Given the description of an element on the screen output the (x, y) to click on. 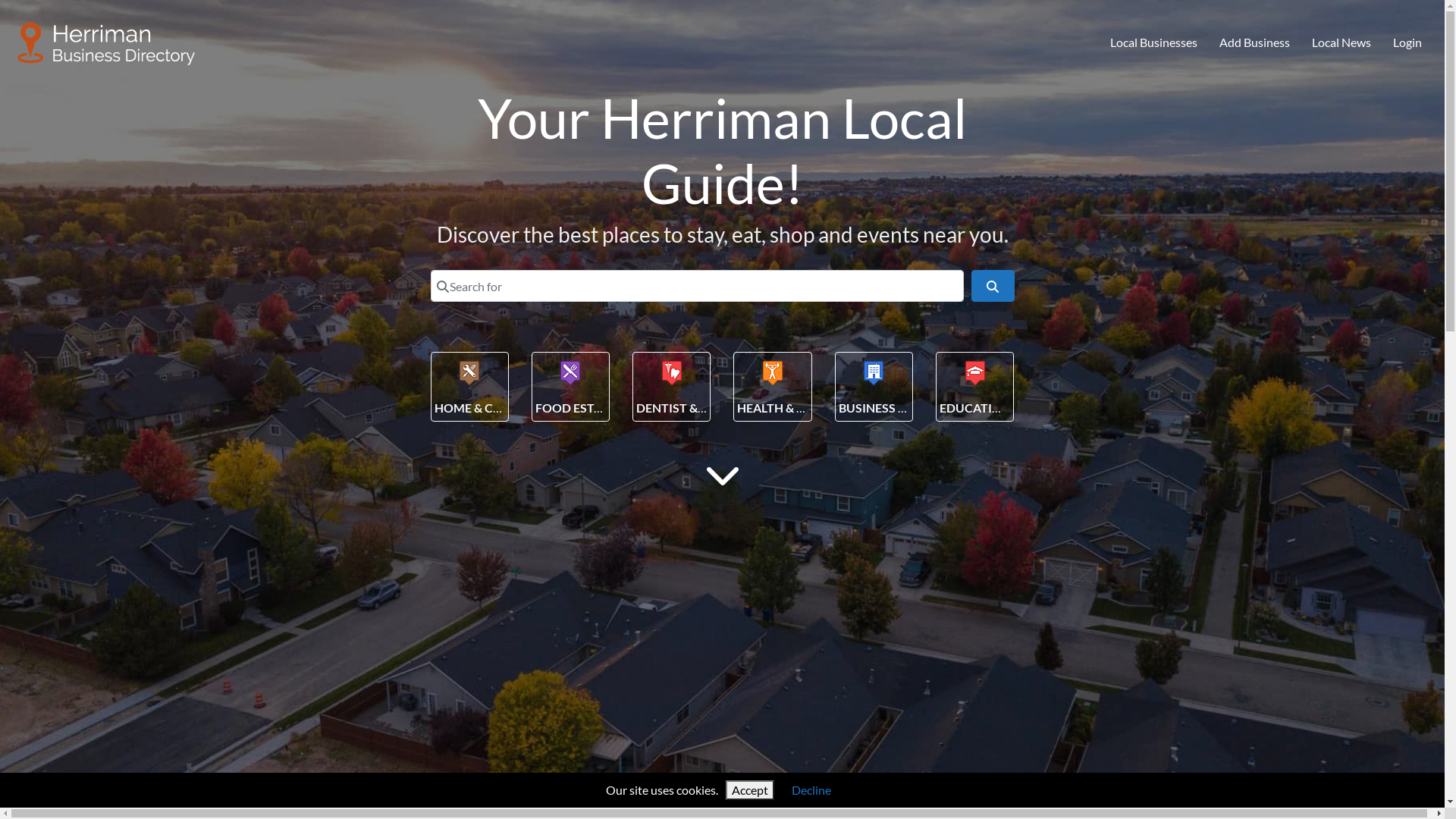
BUSINESS SERVICE Element type: text (892, 407)
Herriman Business Directory Element type: hover (106, 40)
DENTIST & ORTHODONTIST Element type: text (716, 407)
Local News Element type: text (1340, 42)
Login Element type: text (1406, 42)
Search Element type: text (992, 285)
HEALTH & BEAUTY Element type: text (790, 407)
Accept Element type: text (749, 790)
HOME & CONSTRUCTION Element type: text (506, 407)
EDUCATION Element type: text (974, 407)
Local Businesses Element type: text (1153, 42)
Decline Element type: text (811, 789)
Add Business Element type: text (1254, 42)
FOOD ESTABLISHMENT Element type: text (602, 407)
